Given the description of an element on the screen output the (x, y) to click on. 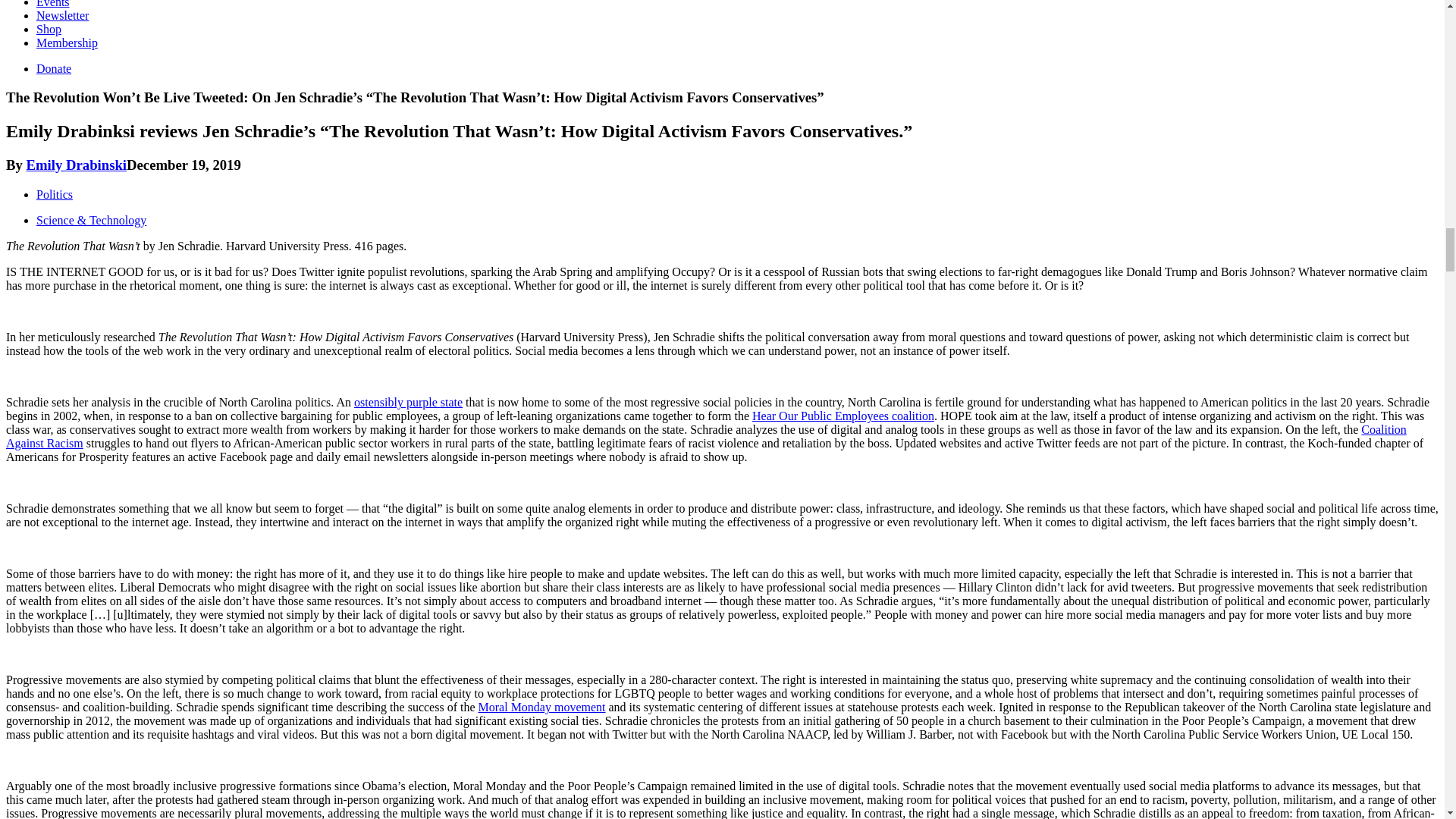
Events (52, 4)
Moral Monday movement (542, 707)
Newsletter (62, 15)
Shop (48, 29)
Membership (66, 42)
Hear Our Public Employees coalition (843, 415)
Emily Drabinski (77, 164)
ostensibly purple state (408, 401)
Coalition Against Racism (705, 436)
